Given the description of an element on the screen output the (x, y) to click on. 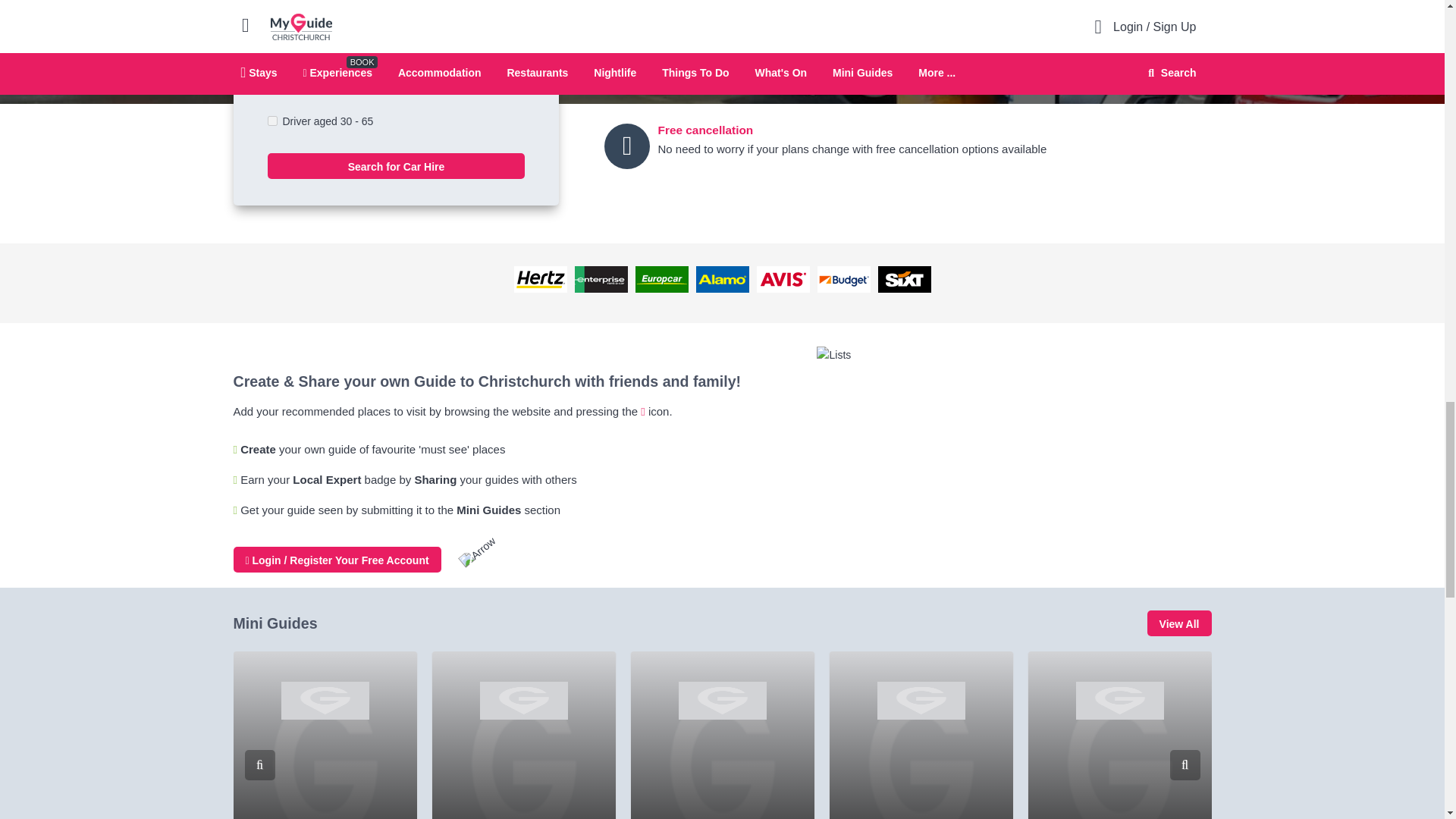
Where To Watch The Rugby In Christchurch (324, 735)
on (271, 121)
